Given the description of an element on the screen output the (x, y) to click on. 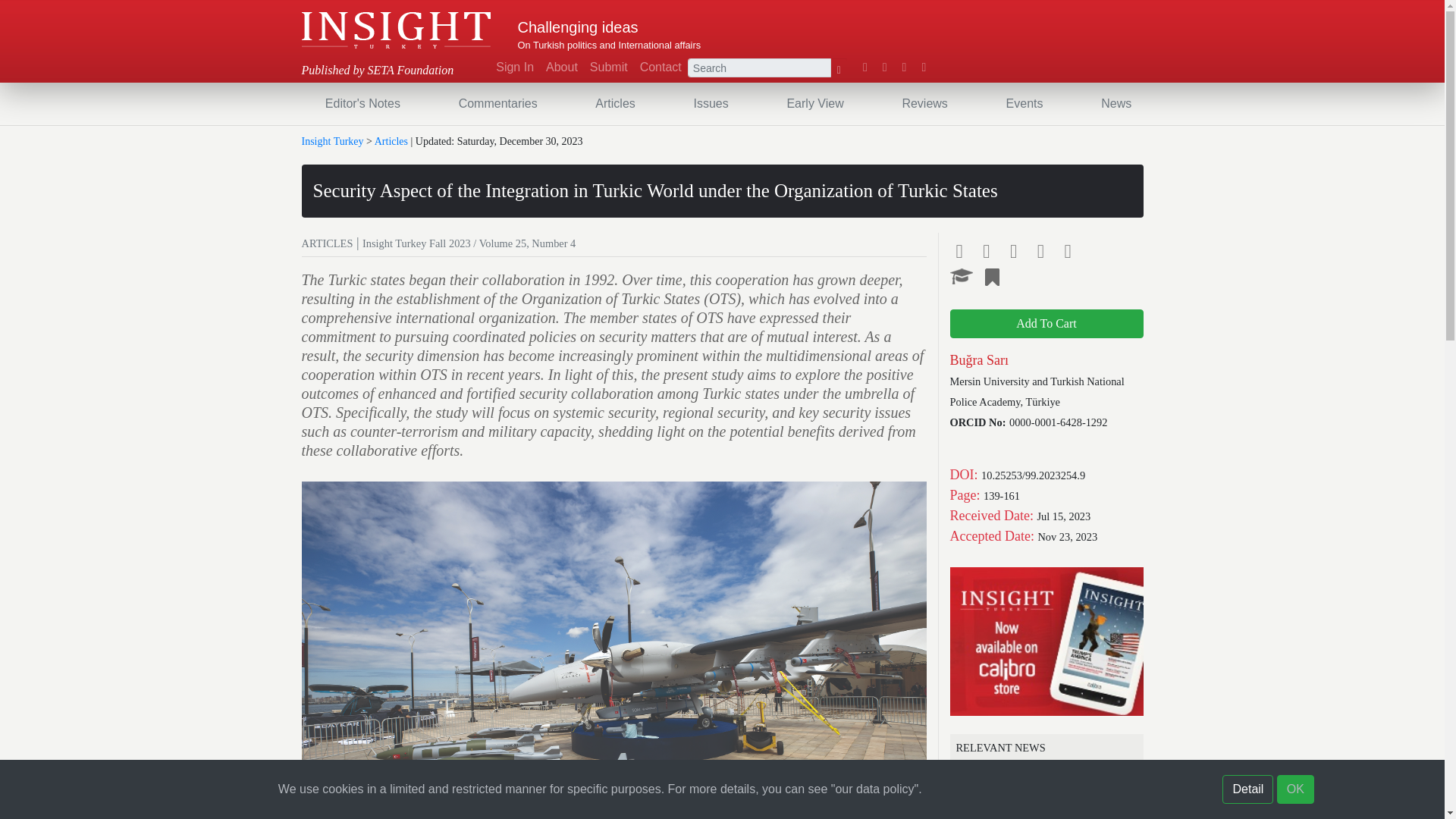
Submit (608, 67)
About (561, 67)
Sign In (514, 67)
Editor's Notes (362, 103)
Submit (608, 67)
Commentaries (497, 103)
Contact (660, 67)
Early View (814, 103)
Reviews (924, 103)
Insight Turkey (396, 29)
About (561, 67)
Issues (710, 103)
Insight Turkey (396, 30)
Articles (614, 103)
